Given the description of an element on the screen output the (x, y) to click on. 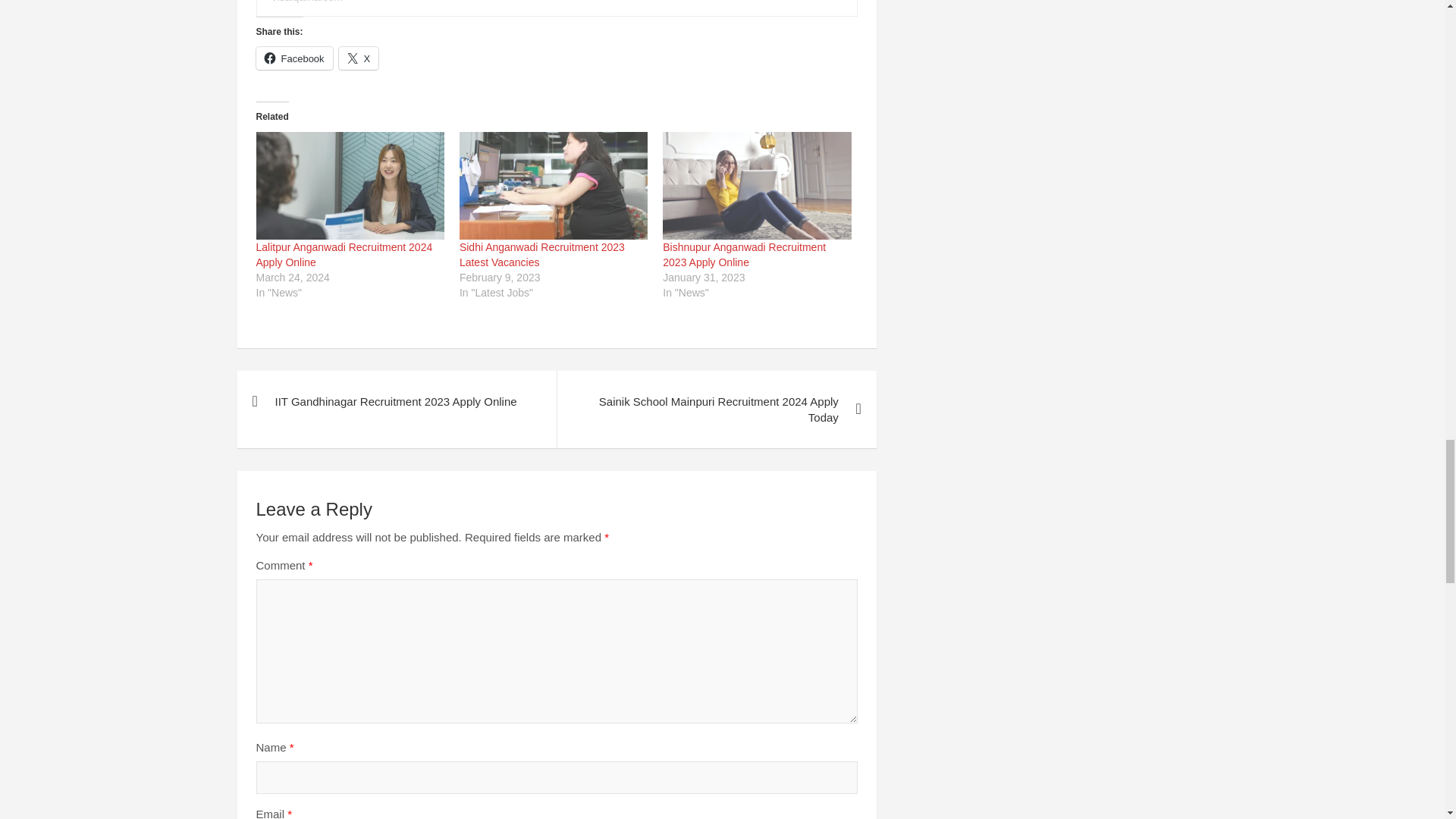
Click to share on X (358, 57)
IIT Gandhinagar Recruitment 2023 Apply Online (395, 401)
Lalitpur Anganwadi Recruitment 2024 Apply Online (350, 185)
X (358, 57)
Sainik School Mainpuri Recruitment 2024 Apply Today (716, 409)
Sidhi Anganwadi Recruitment 2023 Latest Vacancies (553, 185)
Bishnupur Anganwadi Recruitment 2023 Apply Online (743, 254)
Click to share on Facebook (294, 57)
Facebook (294, 57)
Lalitpur Anganwadi Recruitment 2024 Apply Online (344, 254)
visaiqama.com (306, 1)
Sidhi Anganwadi Recruitment 2023 Latest Vacancies (542, 254)
Lalitpur Anganwadi Recruitment 2024 Apply Online (344, 254)
